Given the description of an element on the screen output the (x, y) to click on. 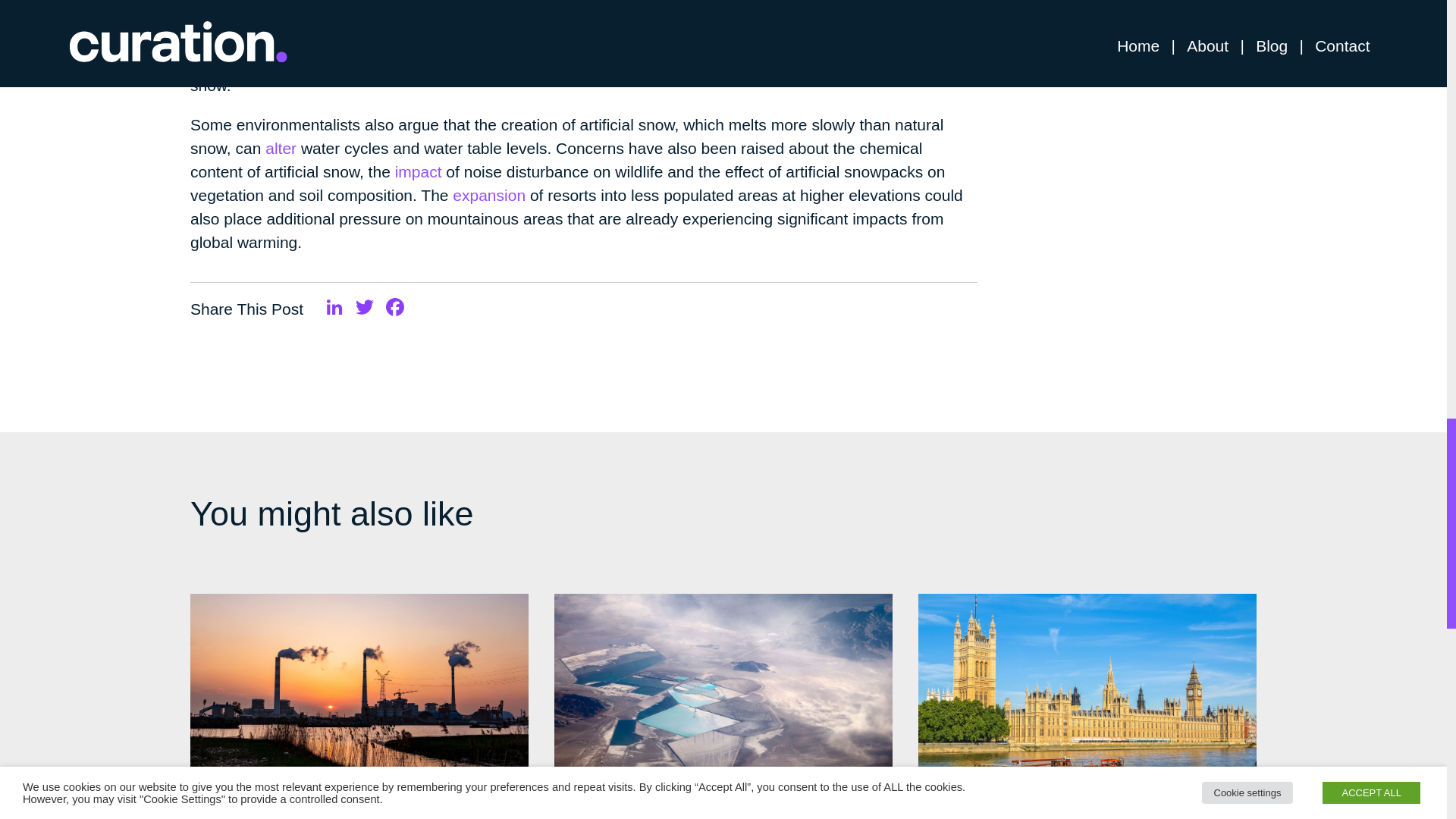
LinkedIn (333, 308)
alter (280, 148)
Albemarle trims lithium production due to weak prices (715, 805)
expansion (488, 194)
Twitter (364, 308)
increase (858, 14)
Facebook (395, 308)
Twitter (364, 308)
Facebook (395, 308)
impact (418, 171)
